Given the description of an element on the screen output the (x, y) to click on. 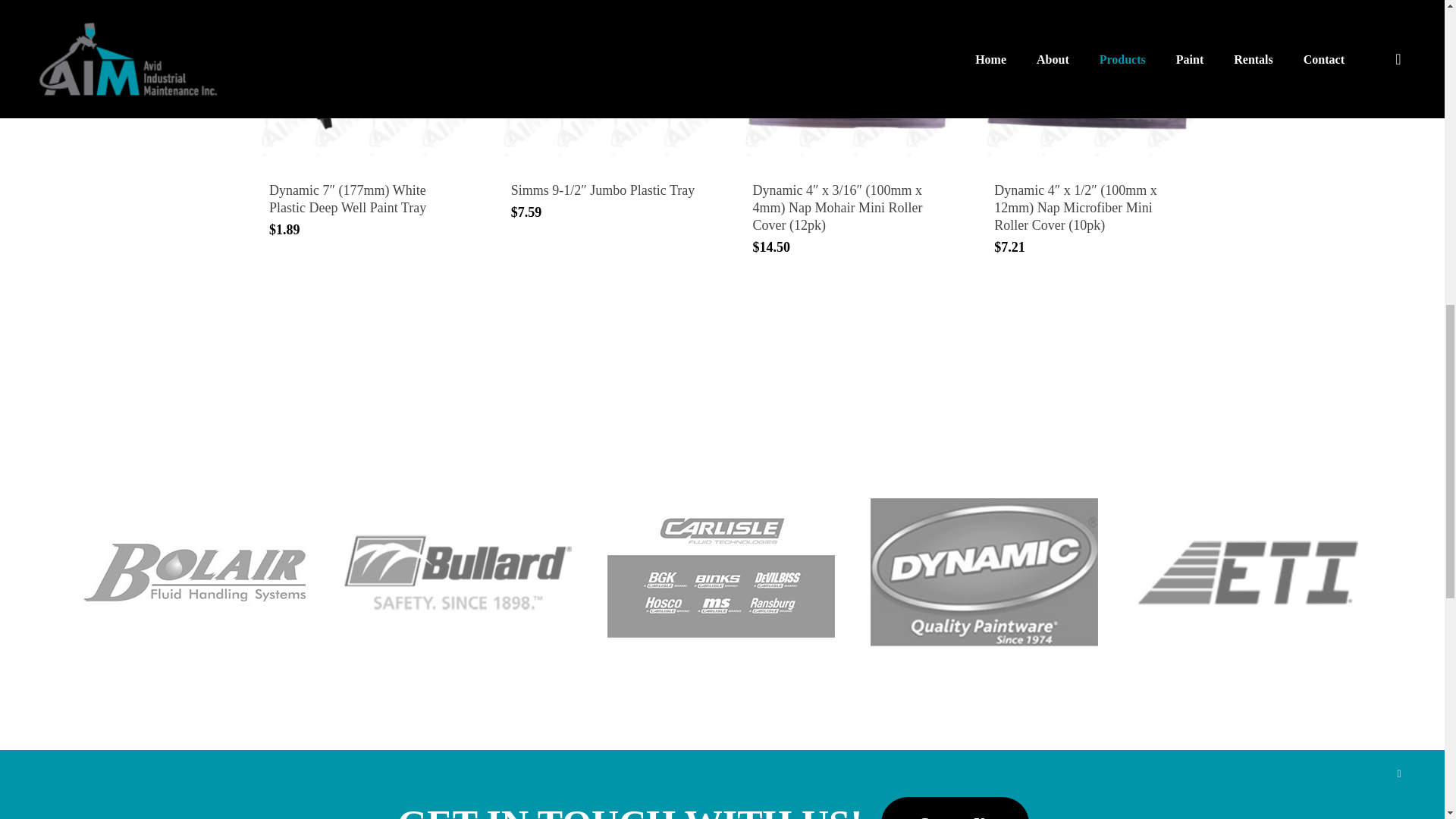
Contact Us (954, 807)
